Given the description of an element on the screen output the (x, y) to click on. 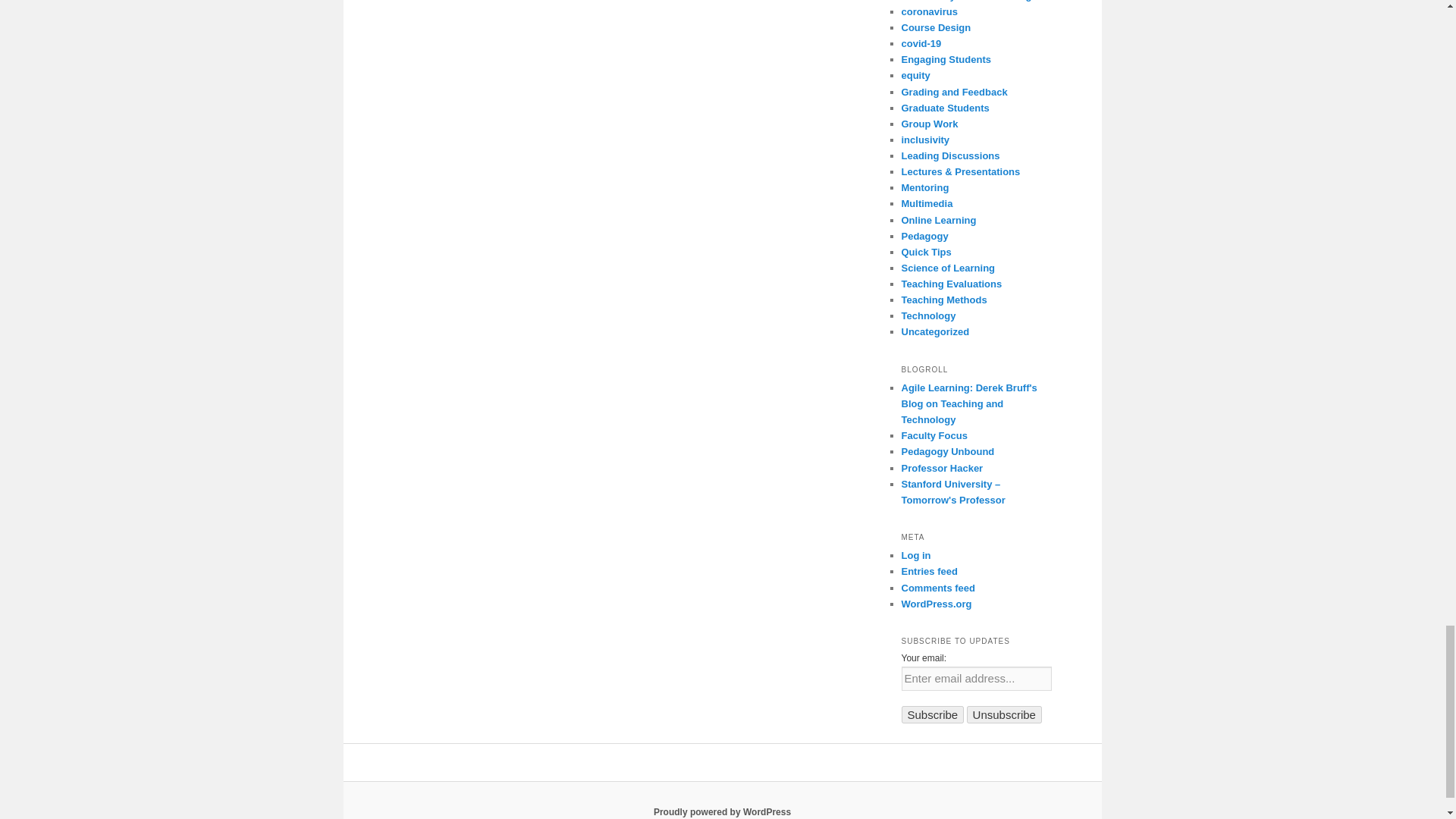
Semantic Personal Publishing Platform (721, 811)
Subscribe (932, 714)
Unsubscribe (1004, 714)
Enter email address... (976, 678)
Tips on teaching, technology, productivity (941, 468)
HIgher education teaching strategies. (933, 435)
